Given the description of an element on the screen output the (x, y) to click on. 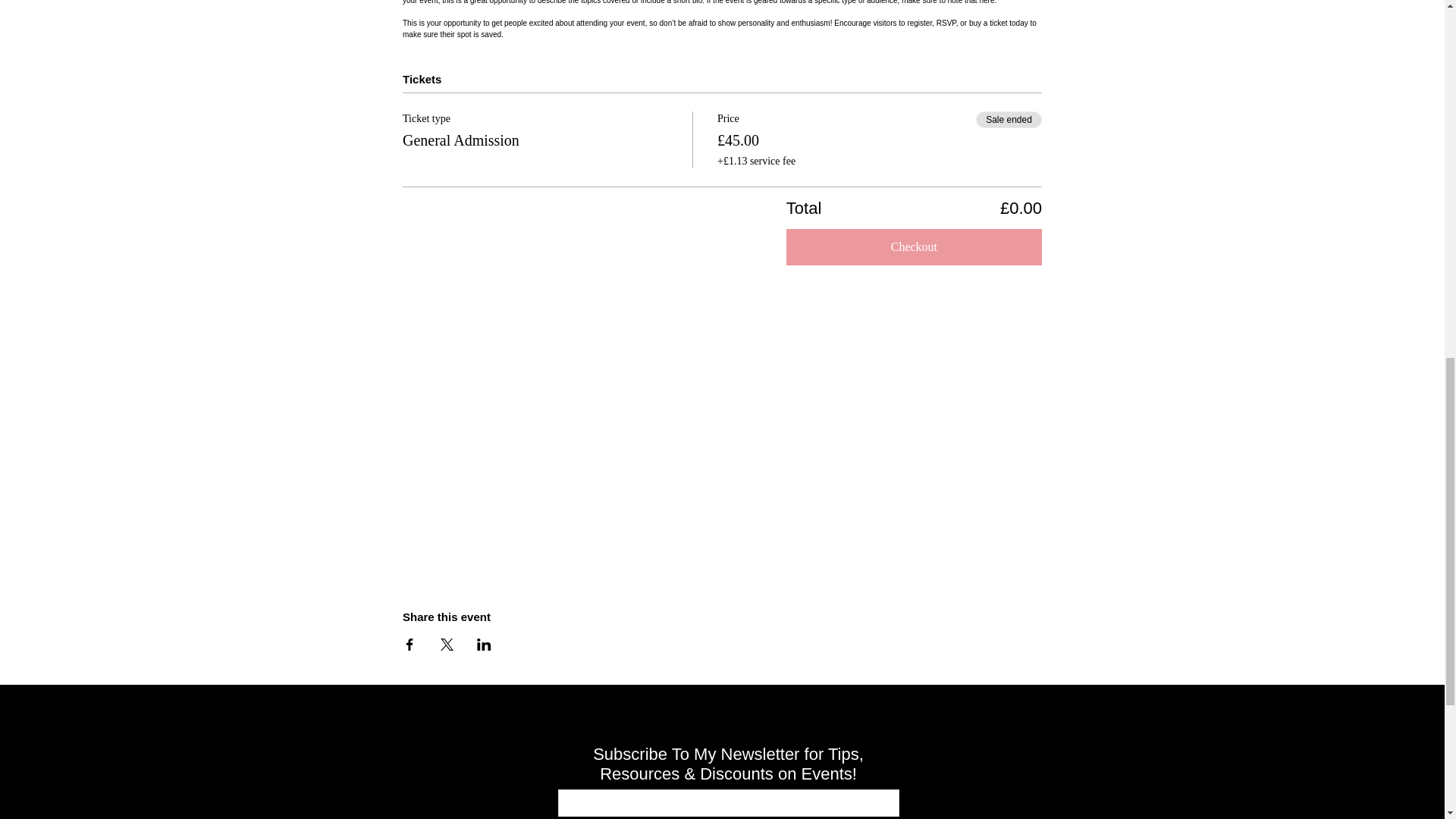
Checkout (914, 247)
